Given the description of an element on the screen output the (x, y) to click on. 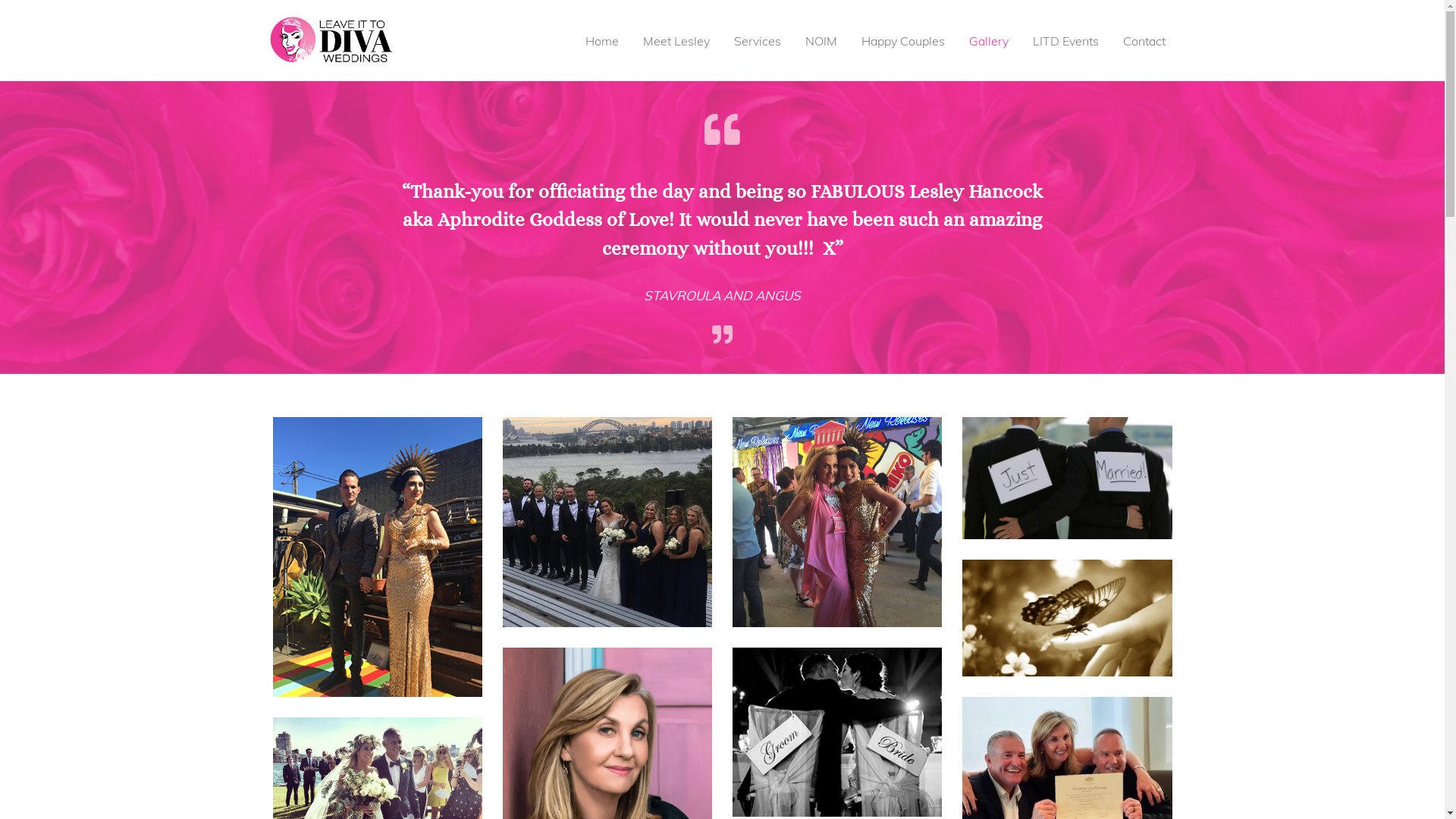
Home Element type: text (601, 40)
Meet Lesley Element type: text (675, 40)
Gallery Element type: text (988, 40)
LITD Events Element type: text (1065, 40)
Happy Couples Element type: text (903, 40)
NOIM Element type: text (821, 40)
Contact Element type: text (1143, 40)
Services Element type: text (757, 40)
